Given the description of an element on the screen output the (x, y) to click on. 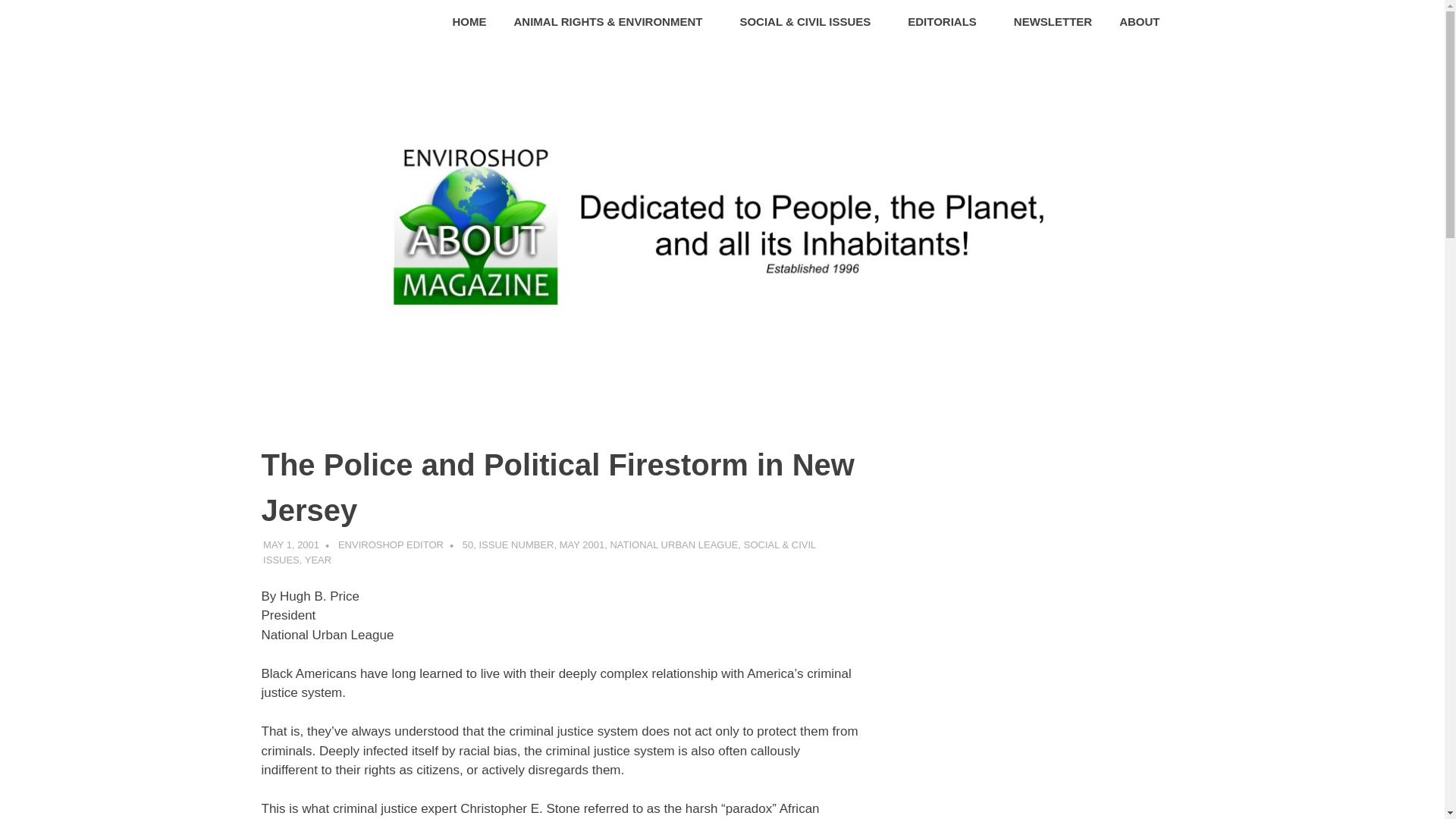
ABOUT (1143, 22)
NEWSLETTER (1052, 22)
EDITORIALS (946, 22)
12:00 am (290, 544)
ENVIROSHOP EDITOR (390, 544)
View all posts by Enviroshop Editor (390, 544)
MAY 1, 2001 (290, 544)
NATIONAL URBAN LEAGUE (674, 544)
ISSUE NUMBER (516, 544)
HOME (469, 22)
